Given the description of an element on the screen output the (x, y) to click on. 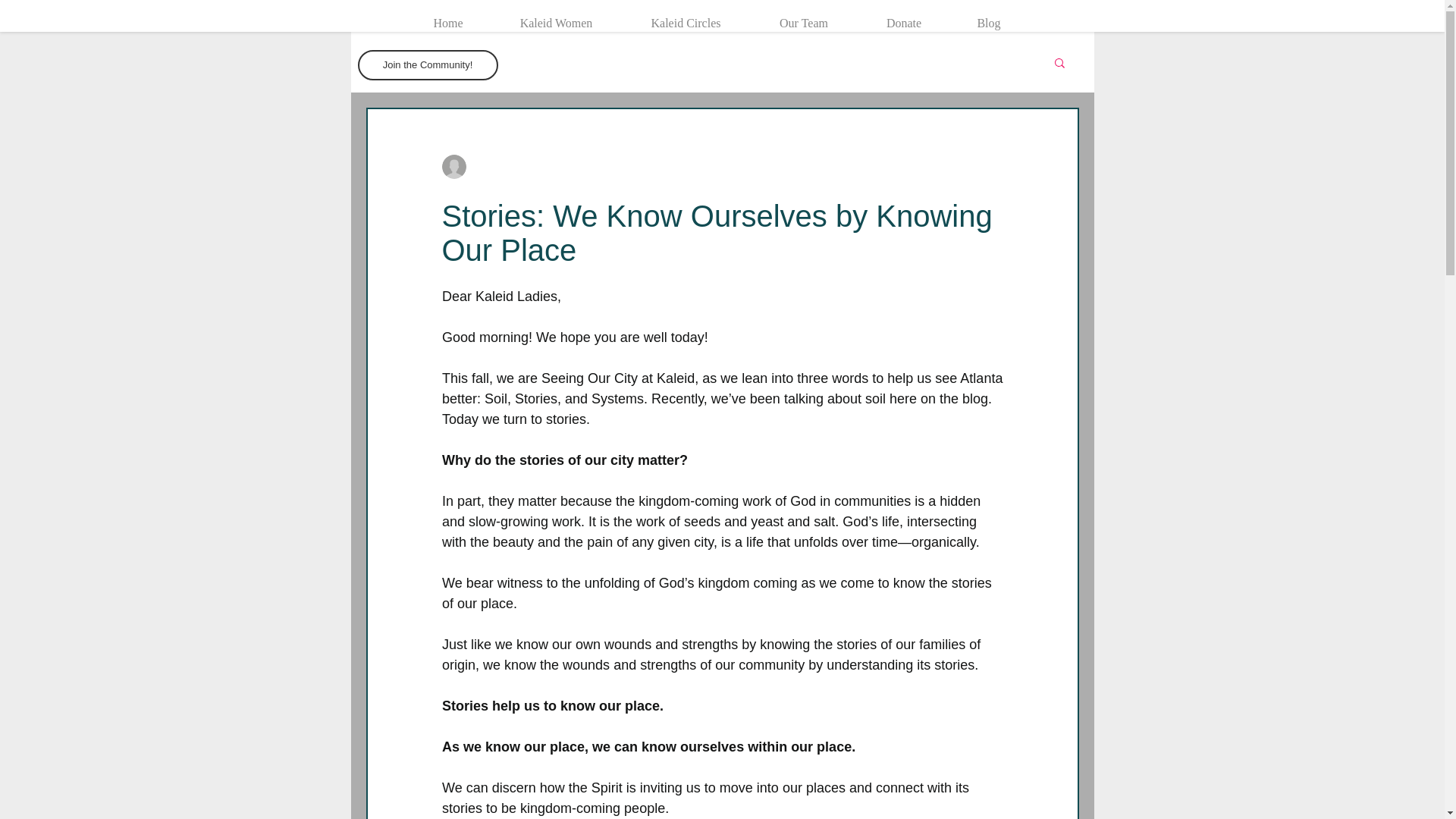
Blog (988, 16)
Donate (903, 16)
Kaleid Women (556, 16)
The Kaleid Team (509, 166)
Kaleid Circles (686, 16)
Join the Community! (427, 64)
Oct 26, 2022 (612, 166)
3 min read (681, 166)
Our Team (804, 16)
Home (447, 16)
